Given the description of an element on the screen output the (x, y) to click on. 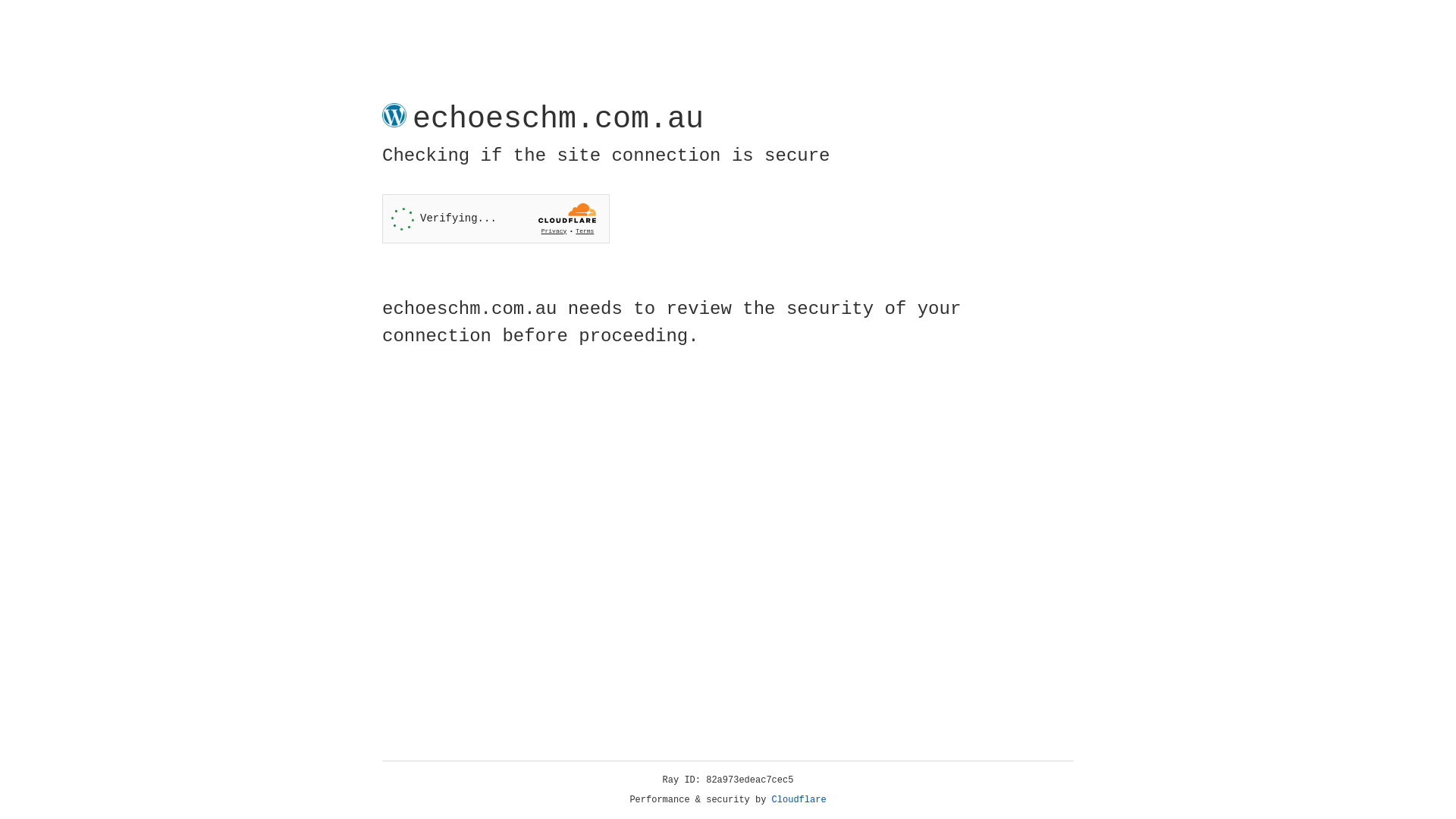
Widget containing a Cloudflare security challenge Element type: hover (495, 218)
Cloudflare Element type: text (798, 799)
